Given the description of an element on the screen output the (x, y) to click on. 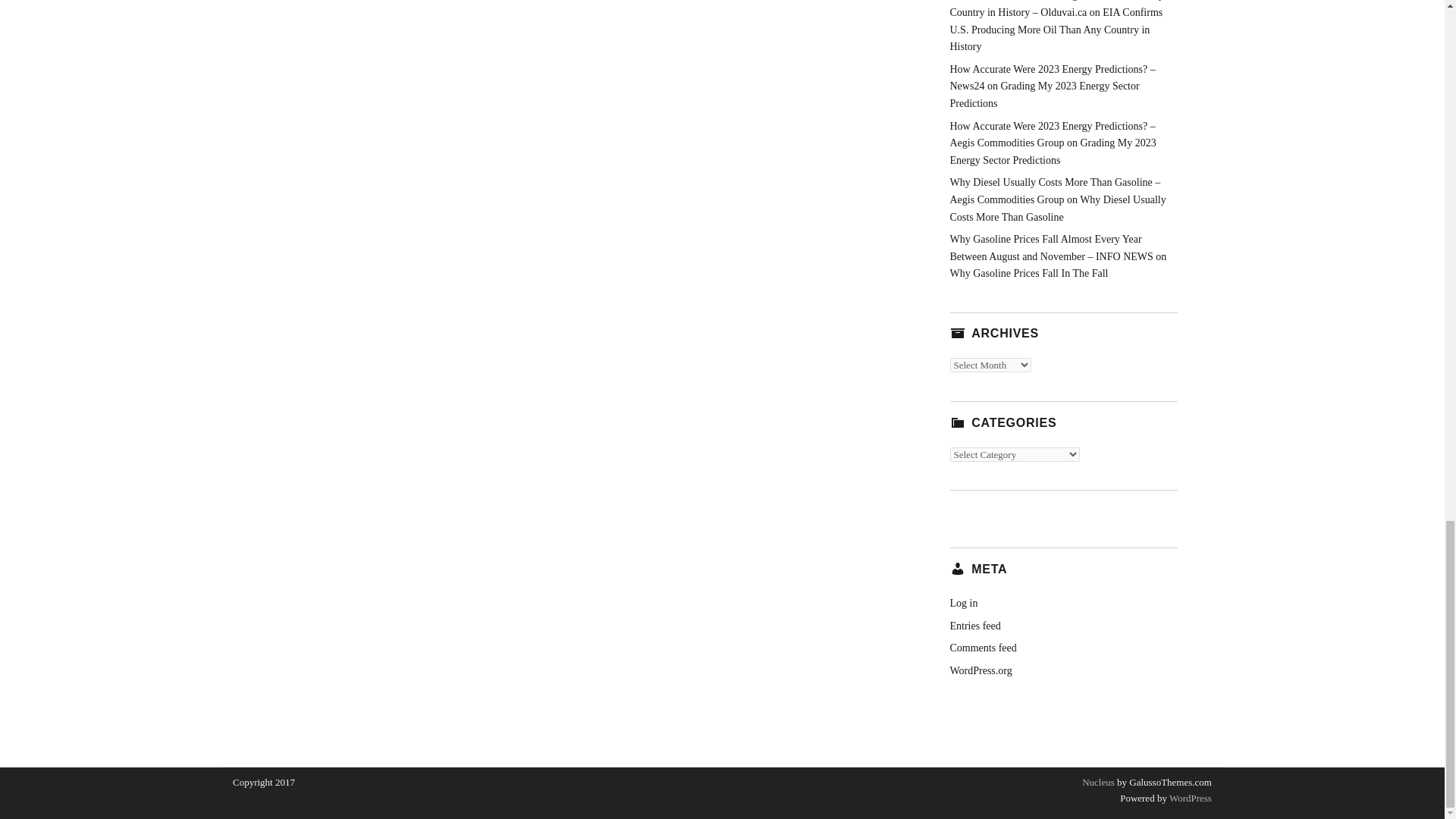
Semantic Personal Publishing Platform (1189, 797)
Grading My 2023 Energy Sector Predictions (1052, 151)
Log in (962, 603)
Why Gasoline Prices Fall In The Fall (1028, 273)
Entries feed (974, 625)
Grading My 2023 Energy Sector Predictions (1043, 94)
Why Diesel Usually Costs More Than Gasoline (1057, 208)
